Given the description of an element on the screen output the (x, y) to click on. 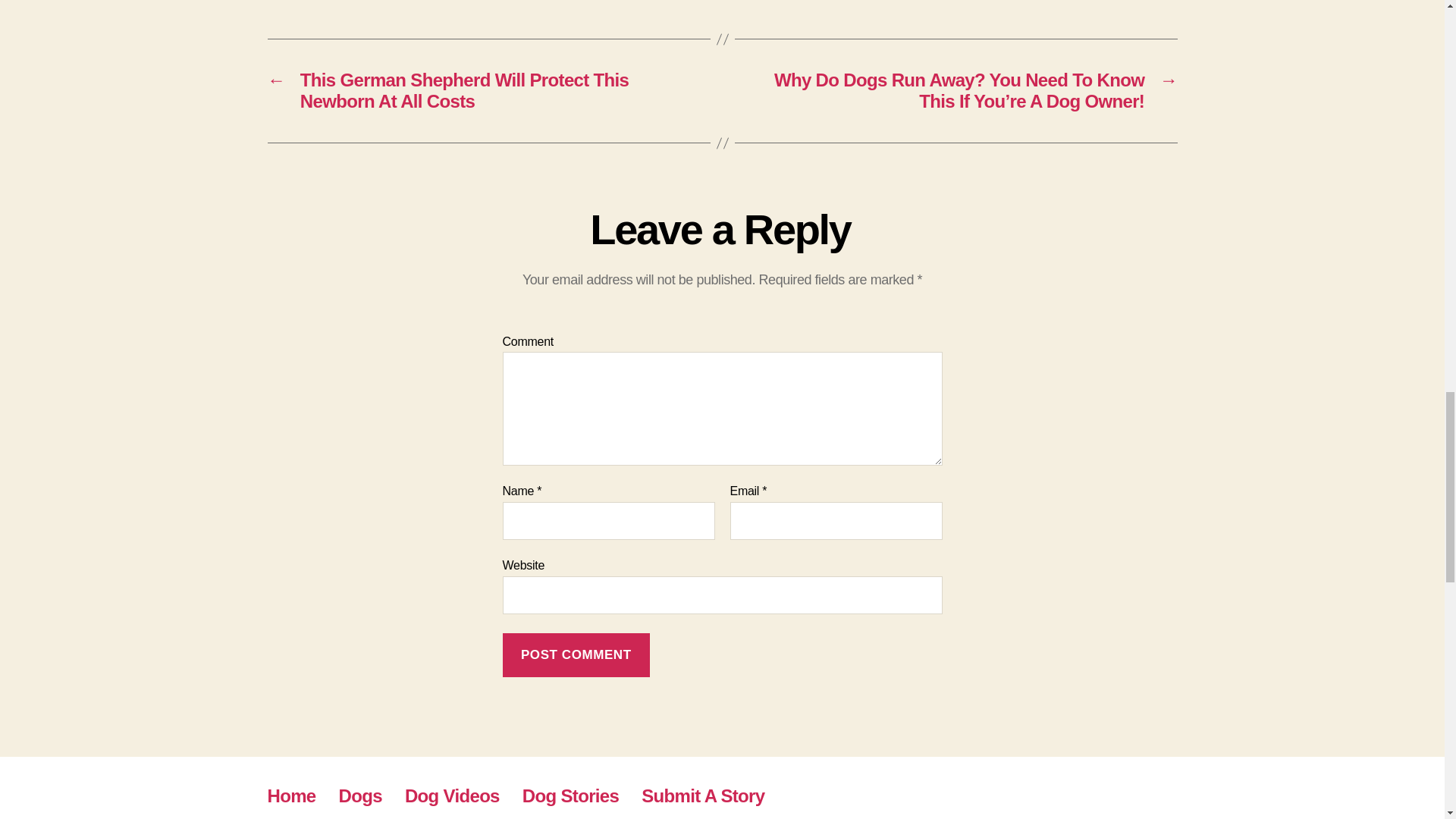
Dog Stories (570, 795)
Dog Videos (451, 795)
Dogs (360, 795)
Home (290, 795)
Post Comment (575, 655)
Post Comment (575, 655)
Submit A Story (703, 795)
